Given the description of an element on the screen output the (x, y) to click on. 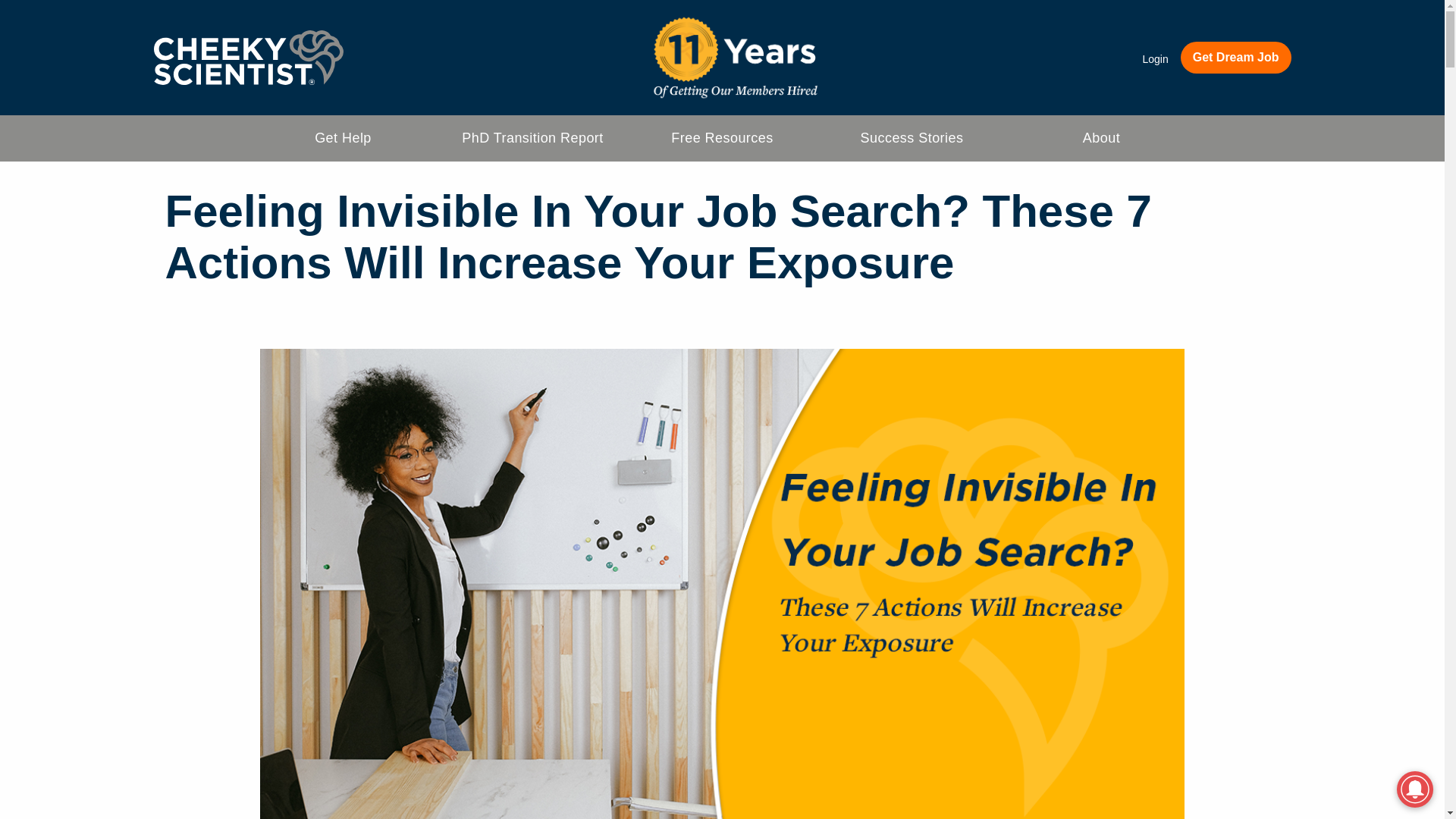
PhD Transition Report (532, 138)
Get Dream Job (1235, 57)
Free Resources (721, 138)
About (1101, 138)
Success Stories (911, 138)
Get Help (343, 138)
Login (1154, 59)
